Given the description of an element on the screen output the (x, y) to click on. 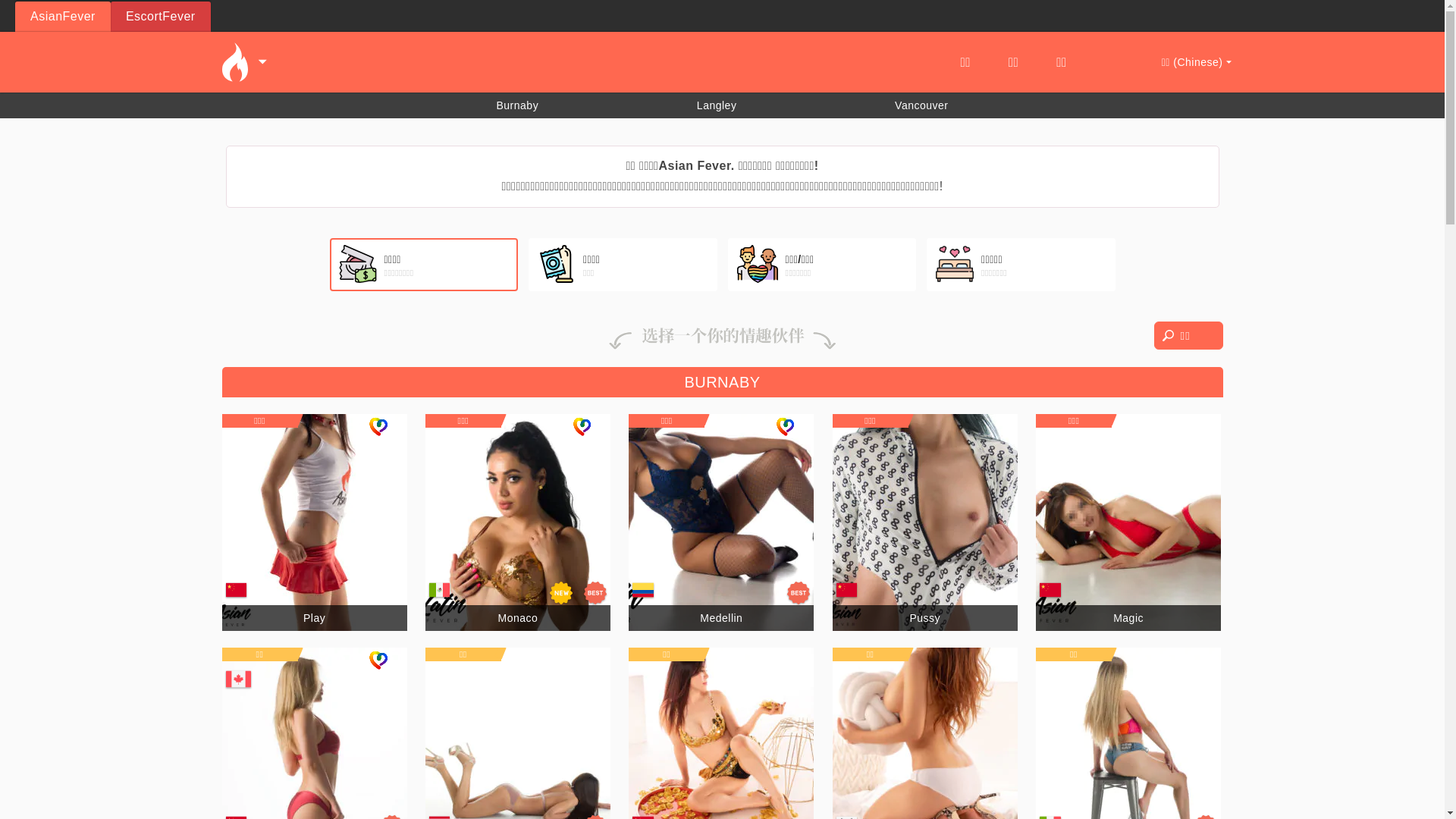
Escort
Fever Element type: text (160, 16)
Vancouver Element type: text (921, 105)
Play Element type: text (314, 617)
Burnaby Element type: text (516, 105)
Magic Element type: text (1128, 617)
Monaco Element type: text (518, 617)
Langley Element type: text (716, 105)
Medellin Element type: text (720, 617)
Asian
Fever Element type: text (62, 16)
Pussy Element type: text (924, 617)
